Given the description of an element on the screen output the (x, y) to click on. 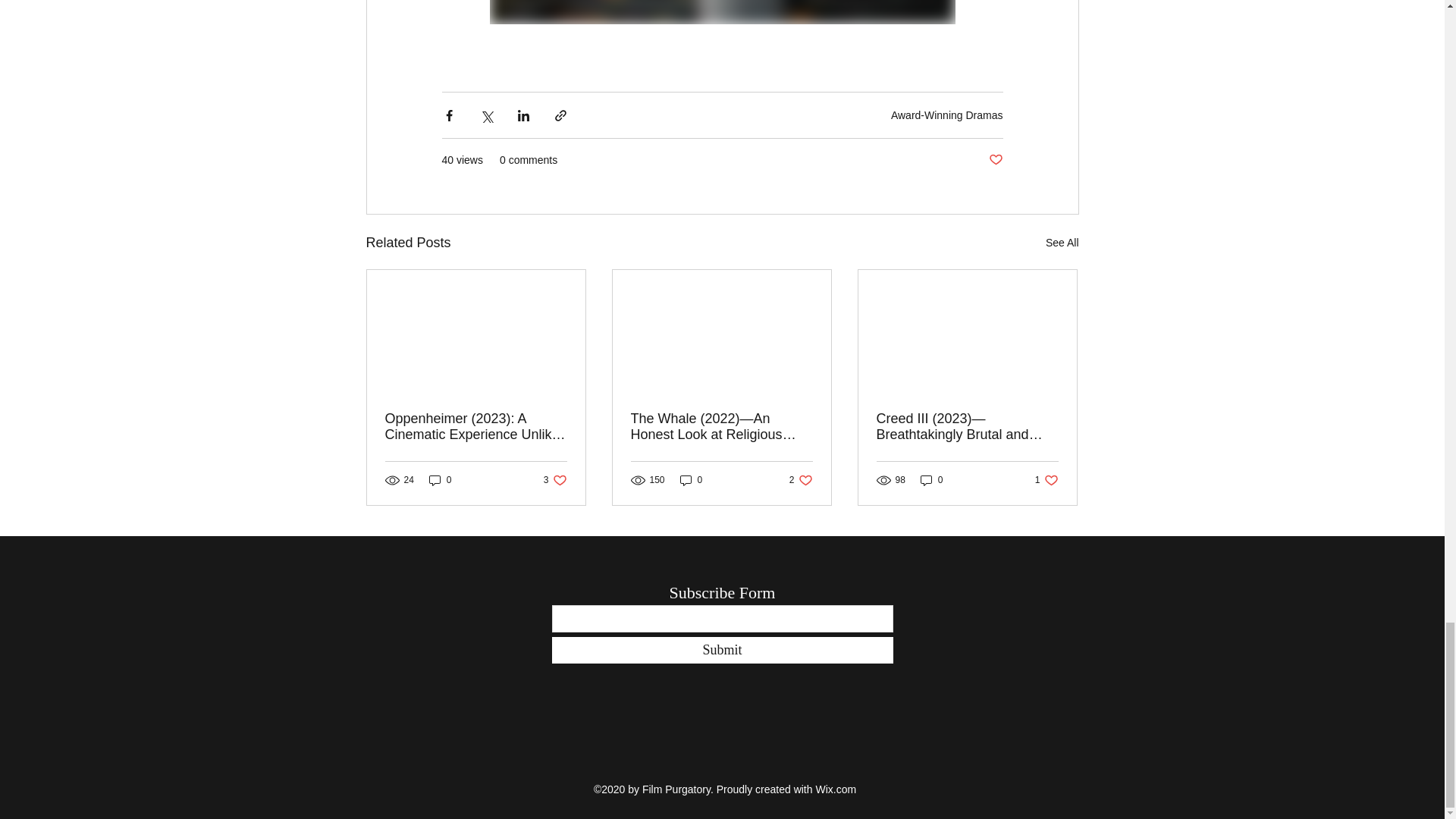
Award-Winning Dramas (947, 114)
0 (931, 480)
See All (1061, 242)
0 (440, 480)
Submit (722, 650)
0 (800, 480)
Post not marked as liked (1046, 480)
